Given the description of an element on the screen output the (x, y) to click on. 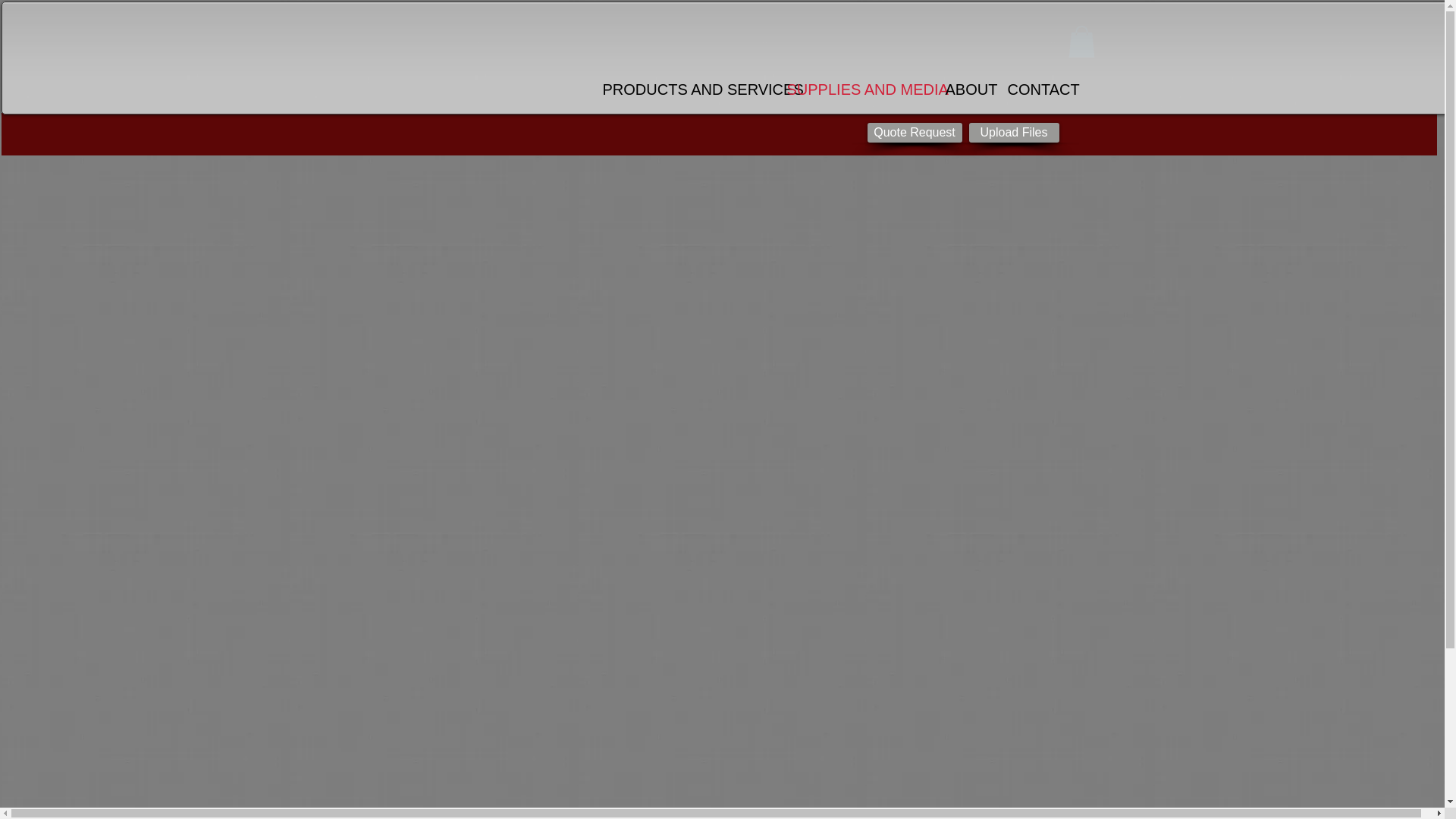
Upload Files (1014, 132)
Quote Request (914, 132)
PRODUCTS AND SERVICES (686, 89)
ABOUT (967, 89)
CONTACT (1036, 89)
SUPPLIES AND MEDIA (857, 89)
